Given the description of an element on the screen output the (x, y) to click on. 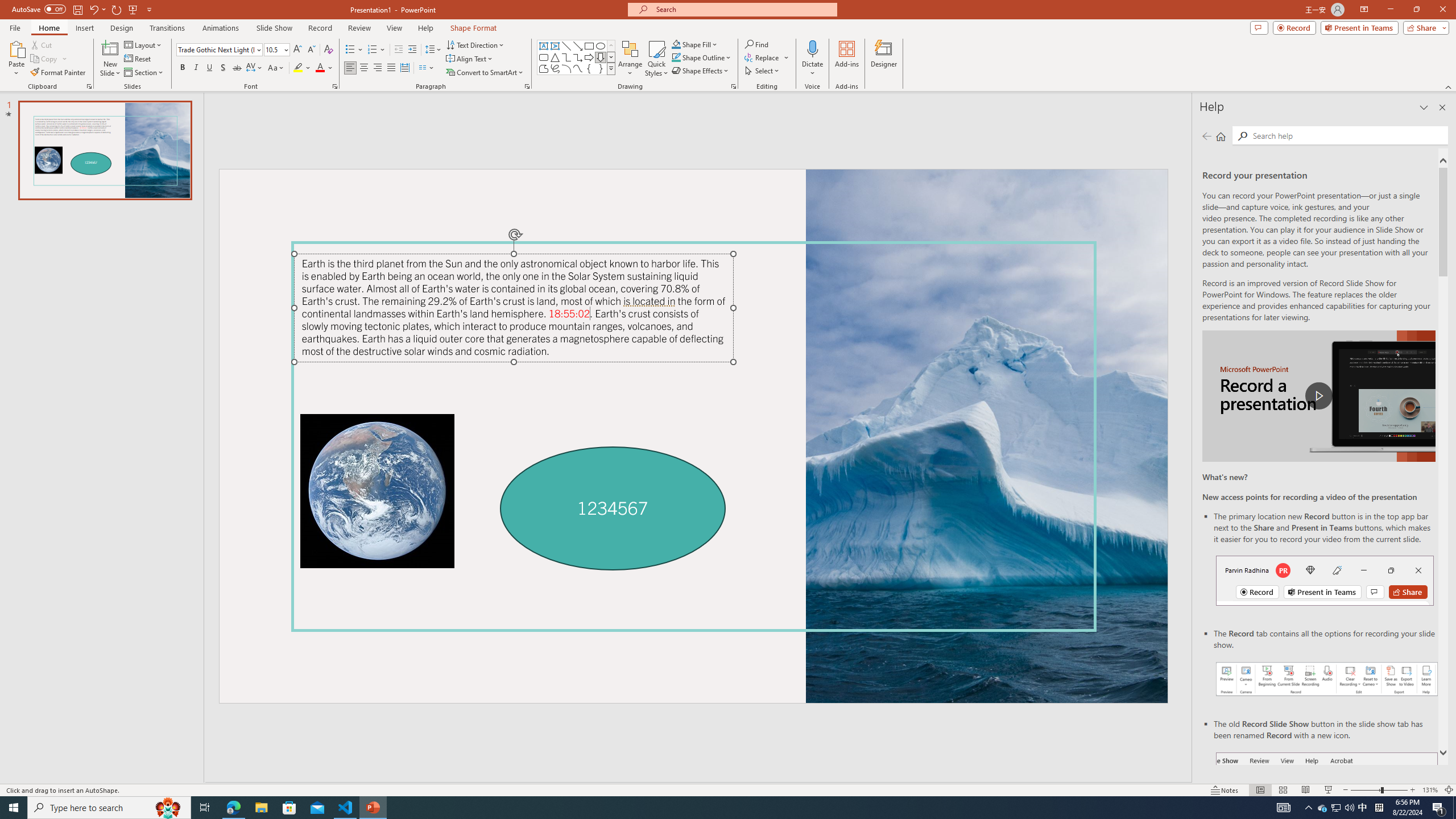
Shape Fill Aqua, Accent 2 (675, 44)
